Given the description of an element on the screen output the (x, y) to click on. 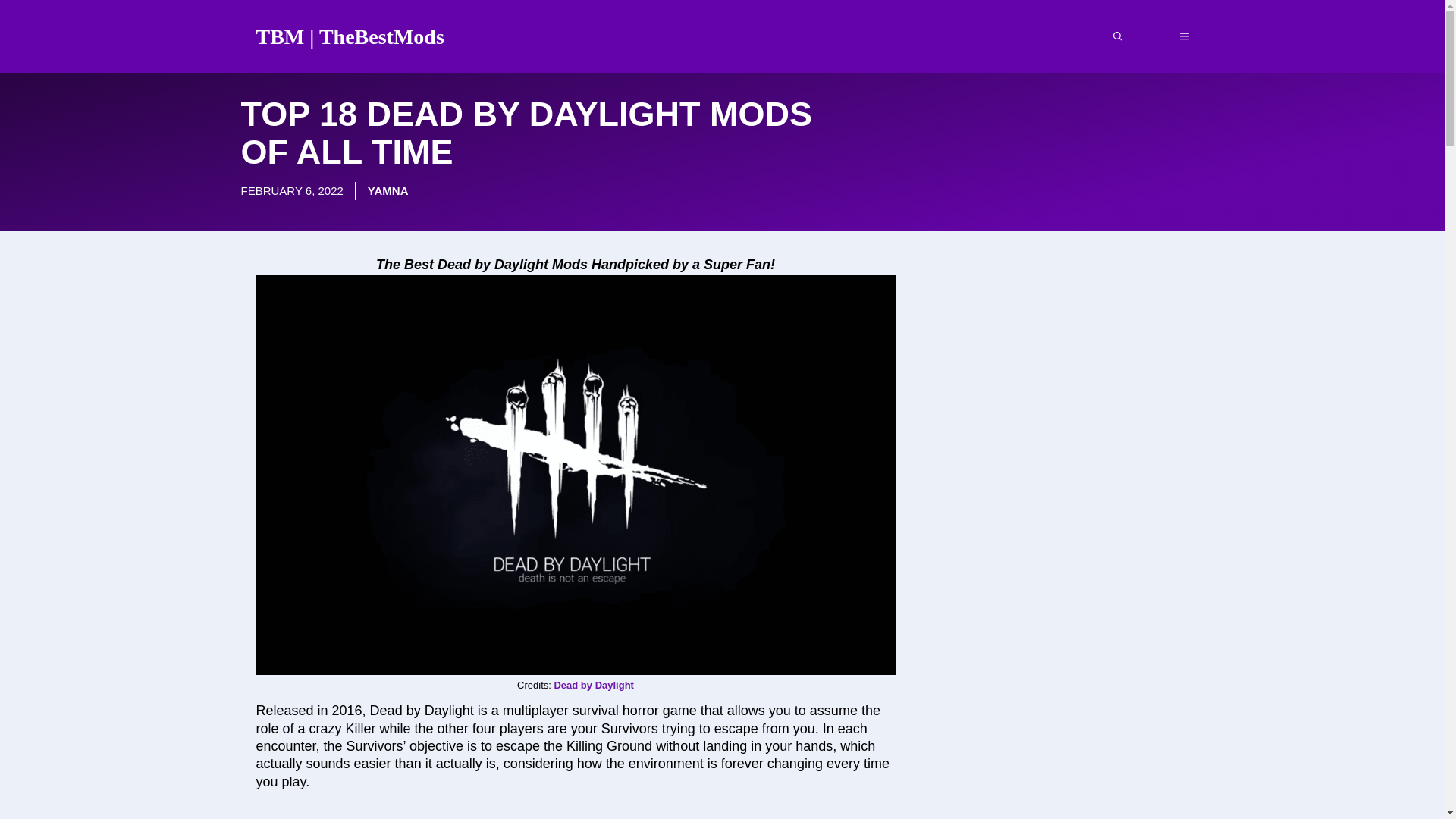
Dead by Daylight (593, 685)
YAMNA (387, 190)
